Given the description of an element on the screen output the (x, y) to click on. 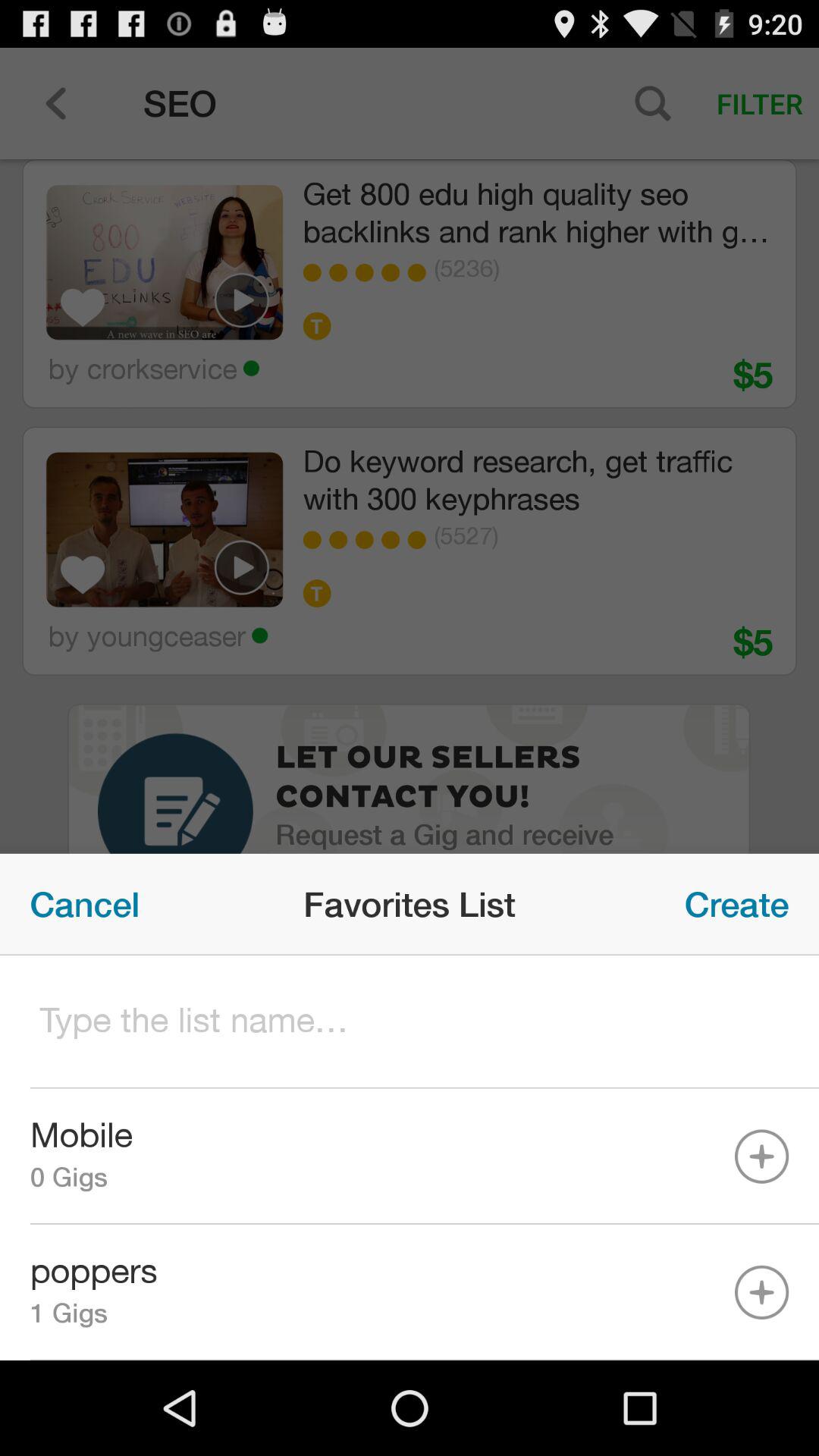
flip to create (736, 903)
